Given the description of an element on the screen output the (x, y) to click on. 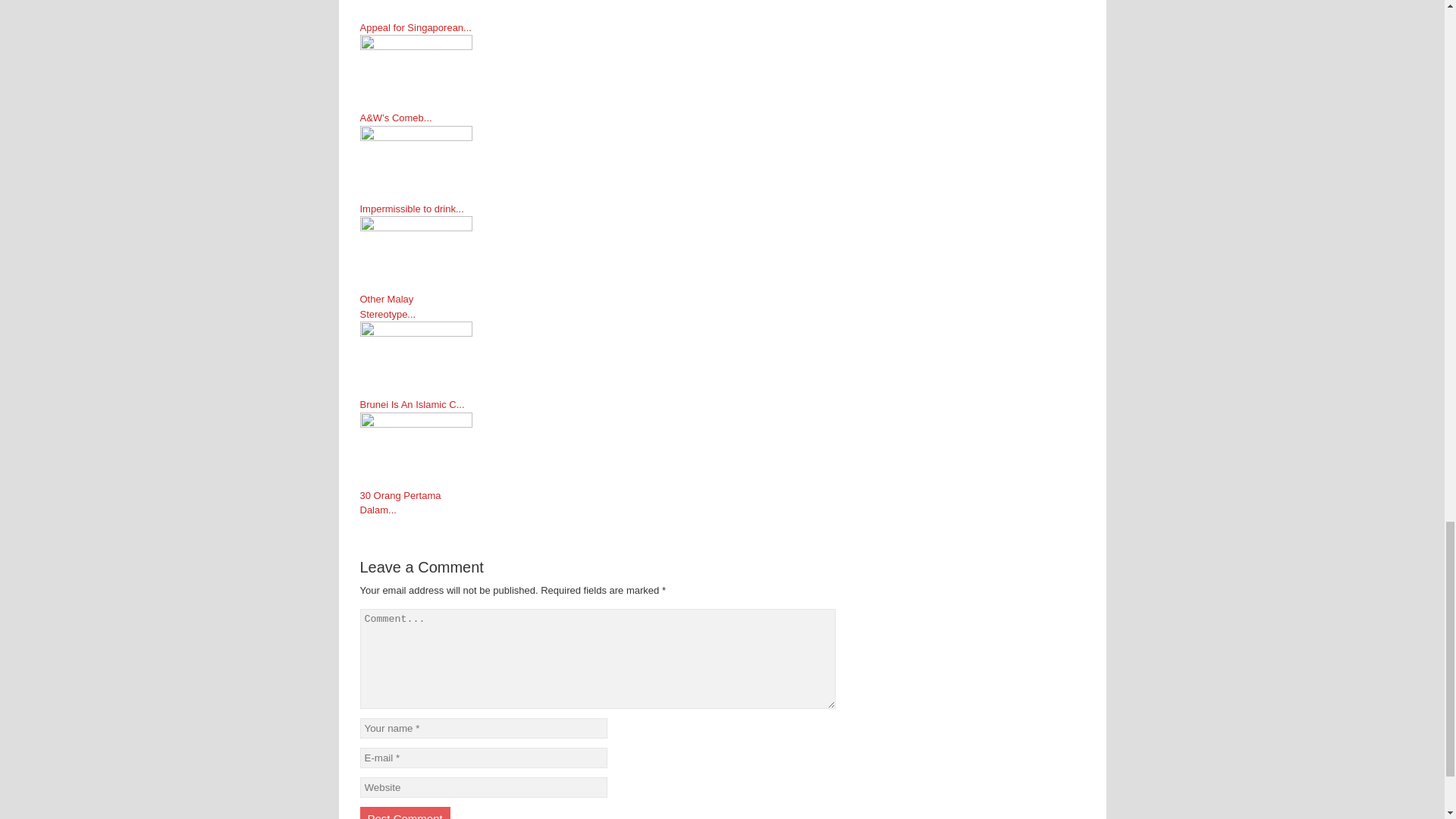
Appeal for Singaporean... (415, 28)
Post Comment (404, 812)
30 Orang Pertama Dalam ISLAM (597, 450)
Impermissible to drink... (415, 209)
